Given the description of an element on the screen output the (x, y) to click on. 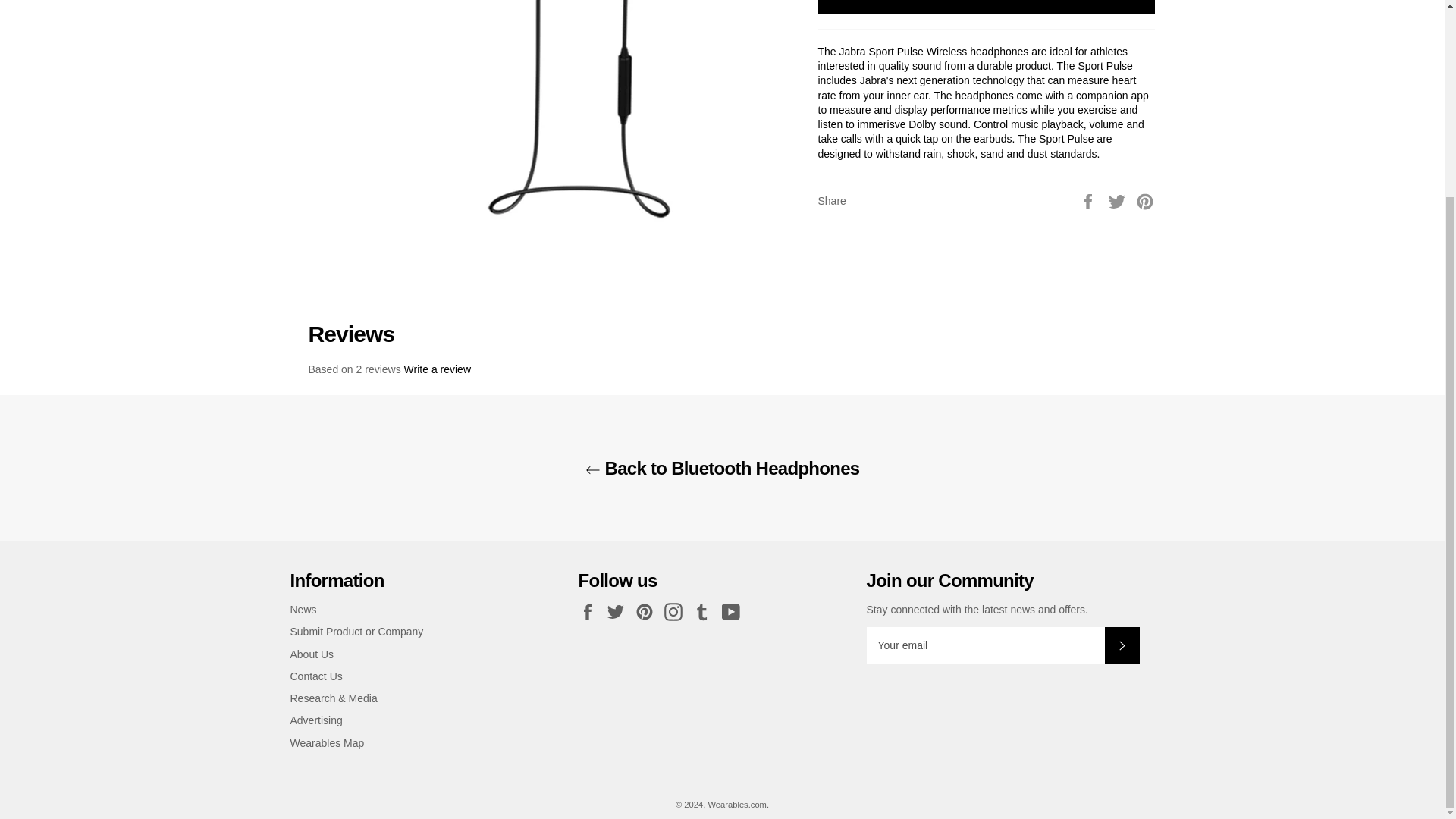
Wearables.com on Tumblr (706, 611)
Pin on Pinterest (1144, 200)
Share on Facebook (1089, 200)
Wearables.com on Facebook (591, 611)
Tweet on Twitter (1118, 200)
Wearables.com on Pinterest (647, 611)
Wearables.com on YouTube (735, 611)
Wearables.com on Instagram (676, 611)
Wearables.com on Twitter (619, 611)
